Given the description of an element on the screen output the (x, y) to click on. 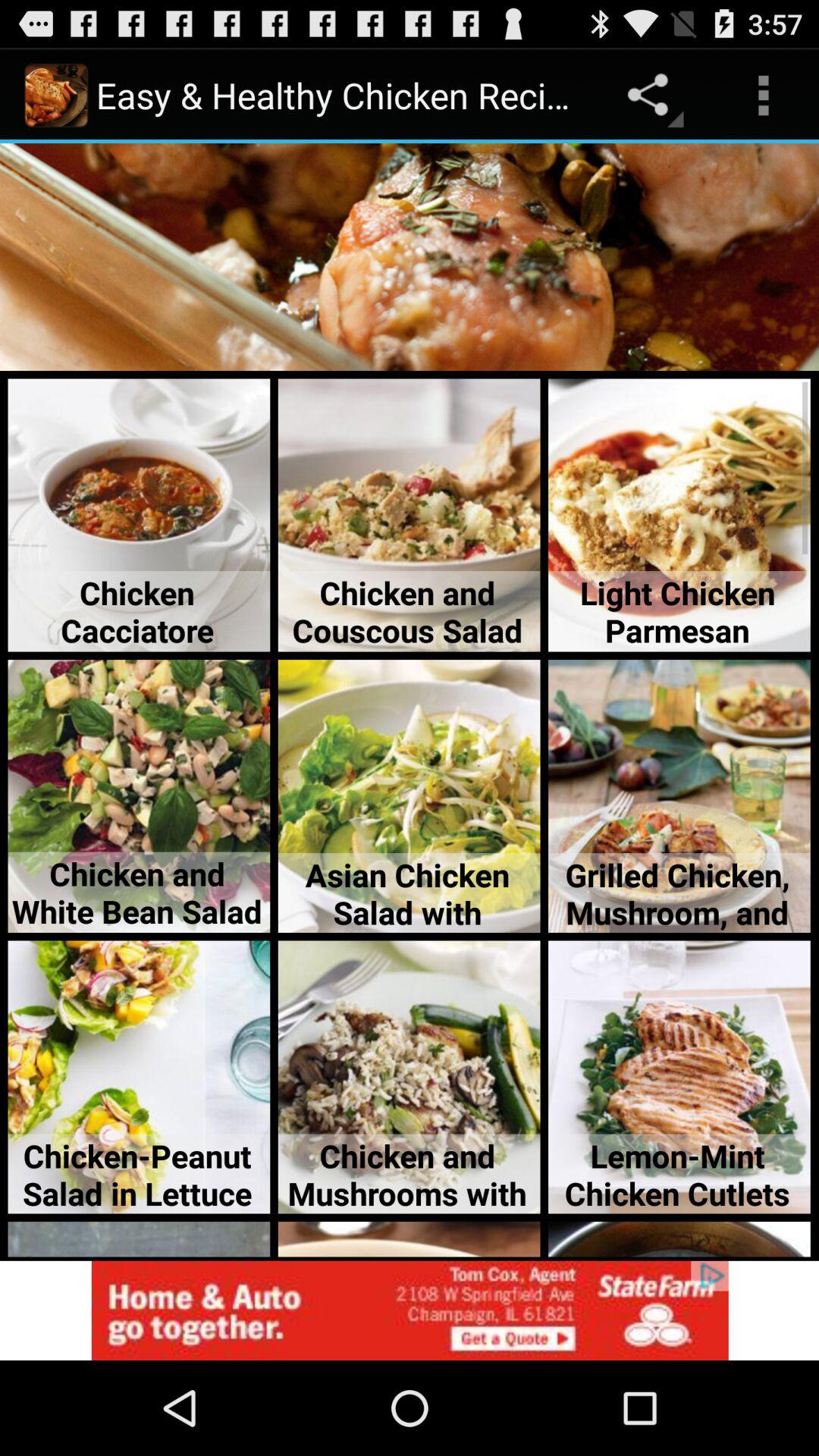
go to light chicken parmesan (678, 515)
click on the text image chicken and mushrooms with (409, 1077)
click on the image on the top most left of the page (55, 95)
click on the text image option chicken and white bean salad (139, 796)
click on the image which is at third row second column (409, 796)
select the menu icon which is at the top right side of the page (763, 95)
click on the image which consists of the text chicken and couscous salad (409, 515)
